Given the description of an element on the screen output the (x, y) to click on. 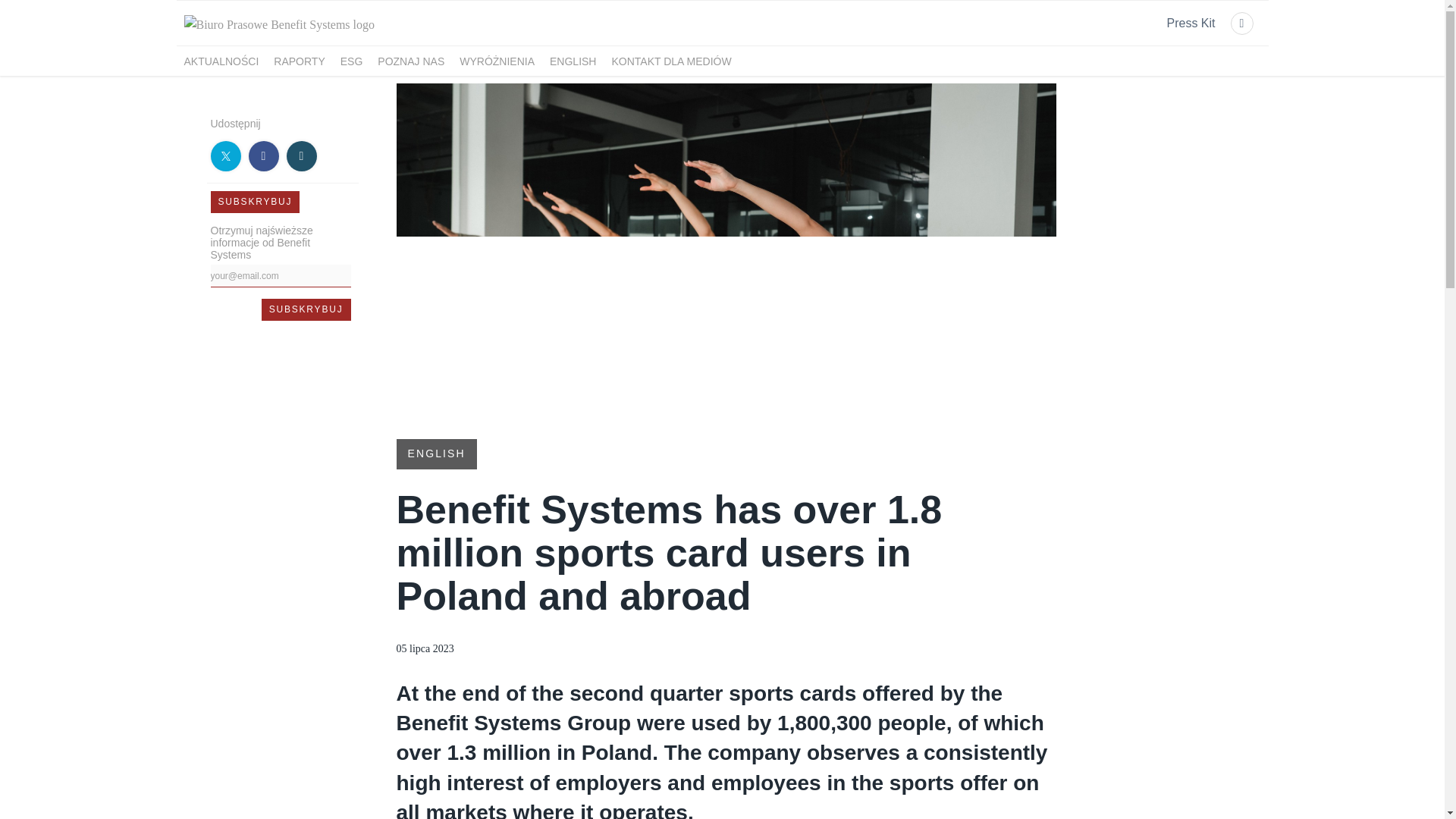
SUBSKRYBUJ (306, 309)
Press Kit (1190, 23)
RAPORTY (298, 61)
ESG (351, 61)
POZNAJ NAS (410, 61)
ENGLISH (572, 61)
ENGLISH (436, 452)
SUBSKRYBUJ (306, 309)
Biuro Prasowe Benefit Systems (278, 24)
